Given the description of an element on the screen output the (x, y) to click on. 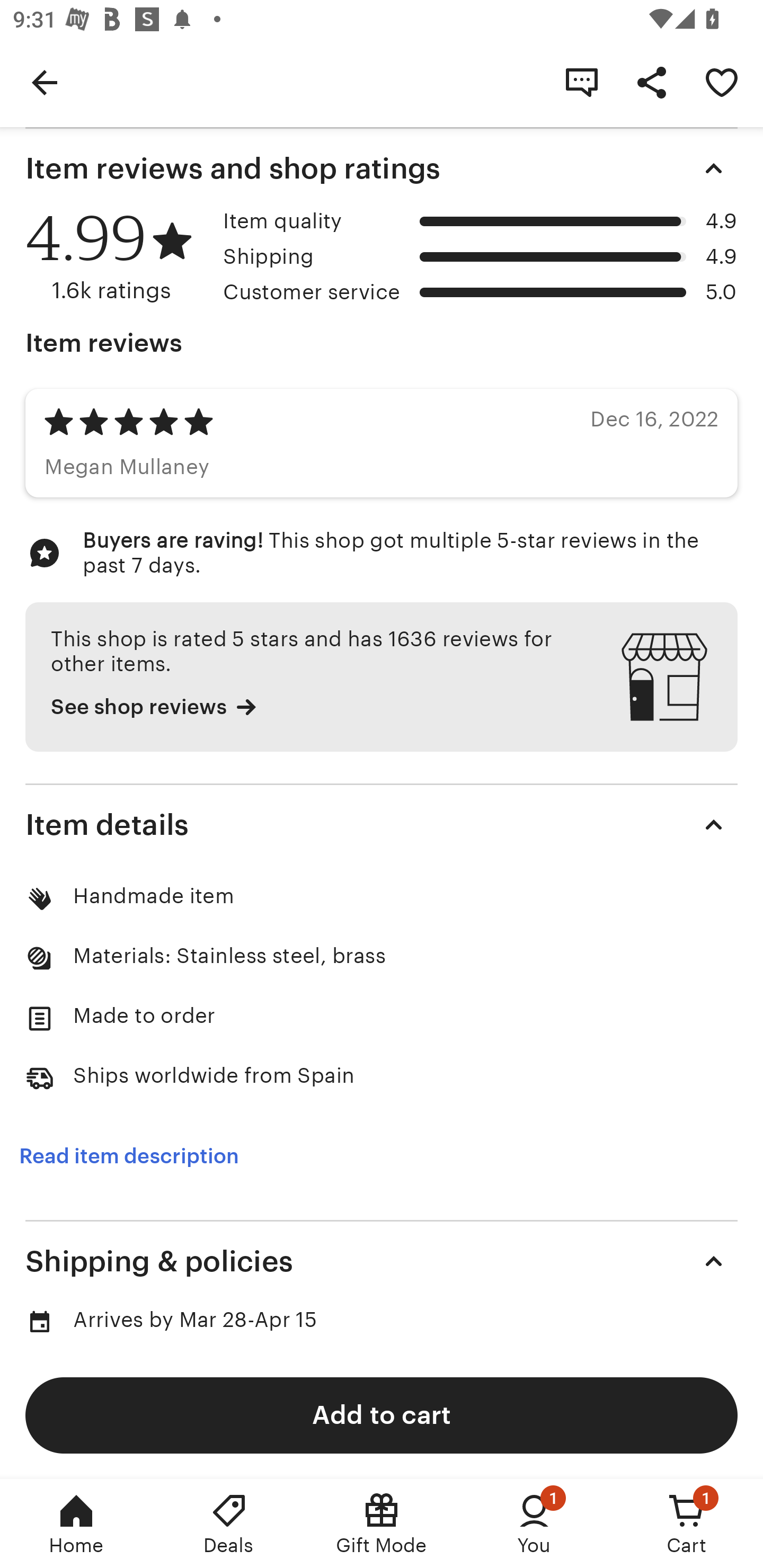
Navigate up (44, 81)
Contact shop (581, 81)
Share (651, 81)
Item reviews and shop ratings (381, 168)
4.99 1.6k ratings (117, 257)
Item details (381, 824)
Read item description (128, 1155)
Shipping & policies (381, 1261)
Add to cart (381, 1414)
Deals (228, 1523)
Gift Mode (381, 1523)
You, 1 new notification You (533, 1523)
Cart, 1 new notification Cart (686, 1523)
